Given the description of an element on the screen output the (x, y) to click on. 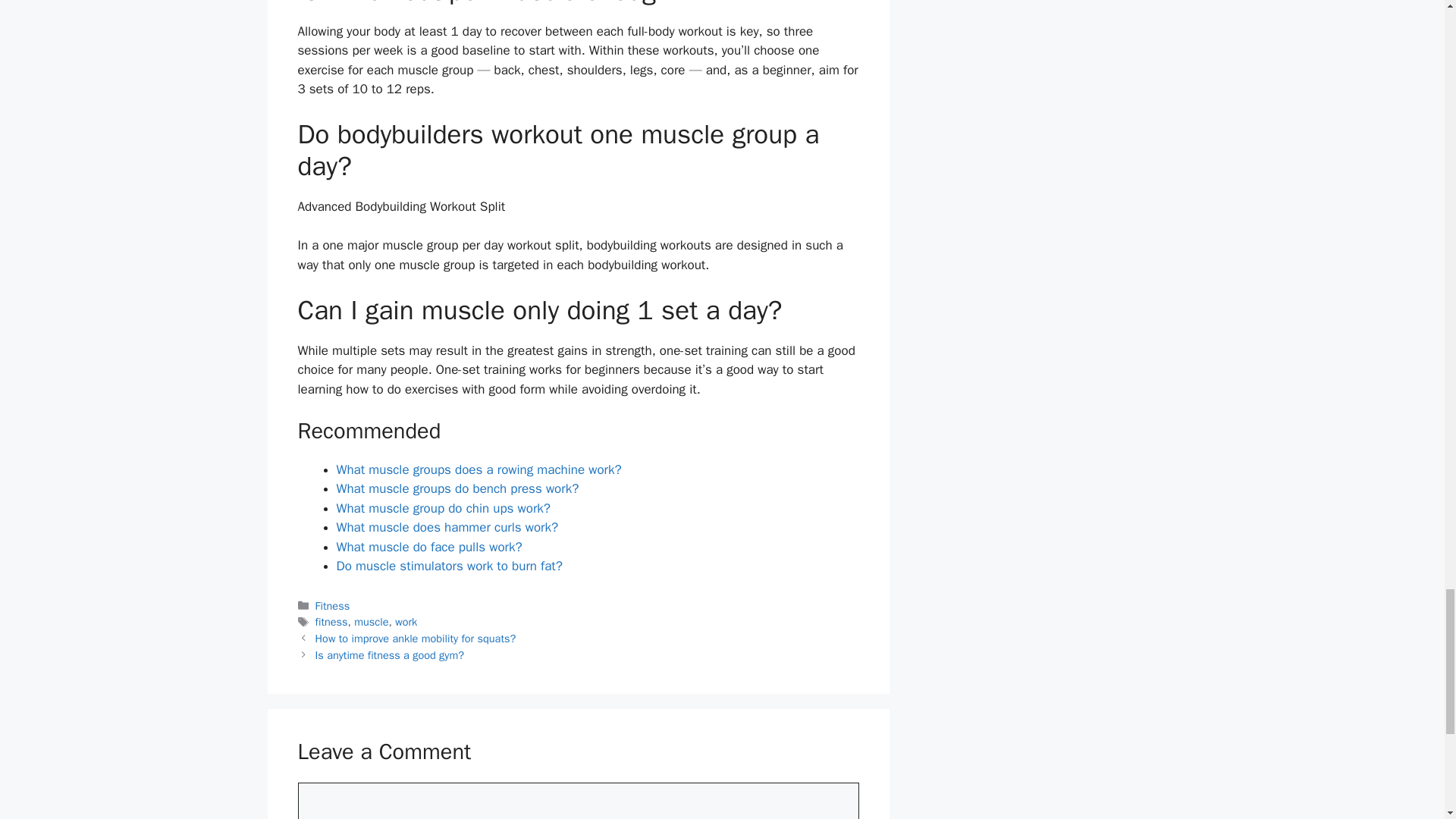
What muscle groups does a rowing machine work? (478, 469)
